Given the description of an element on the screen output the (x, y) to click on. 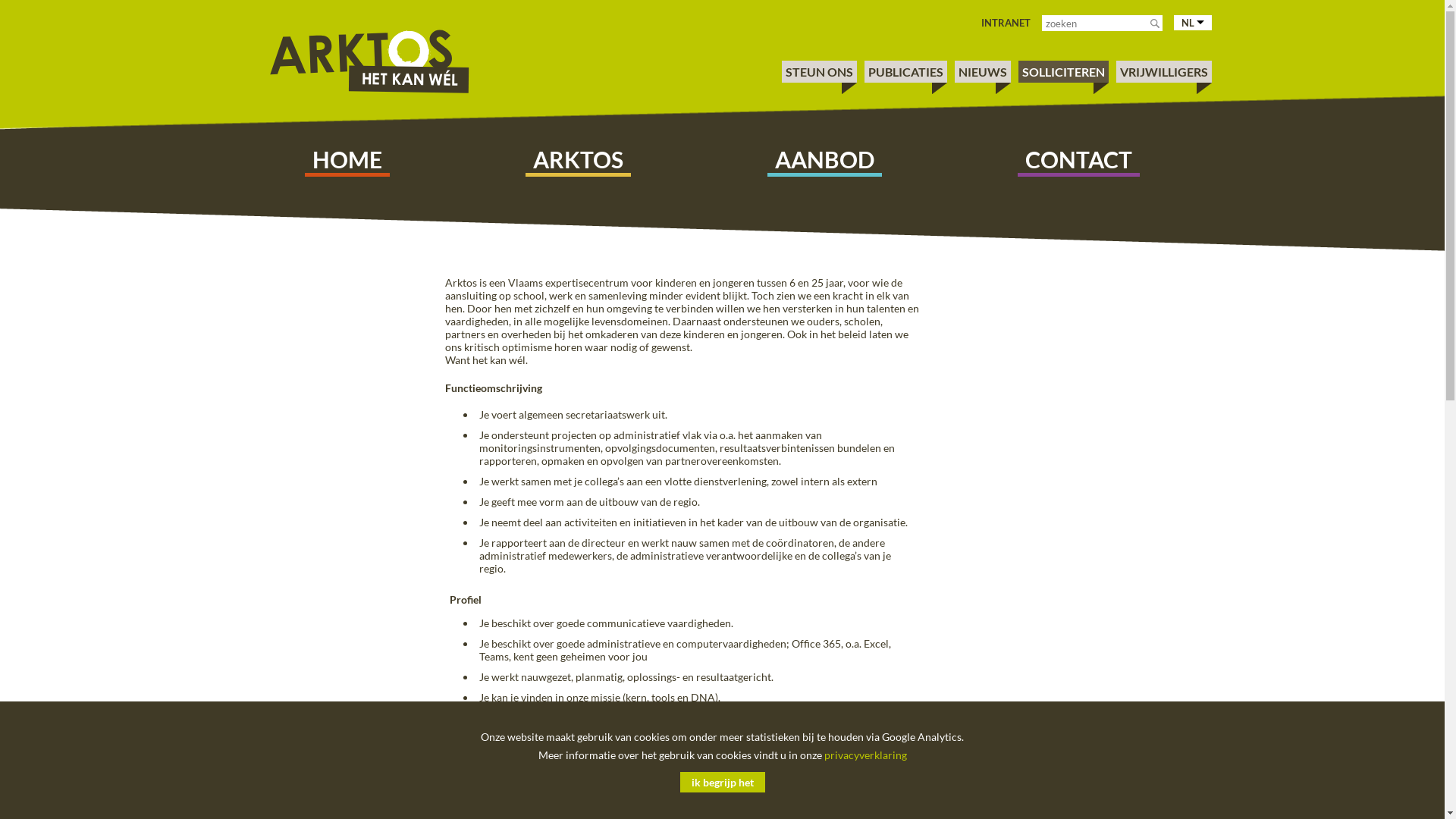
PUBLICATIES Element type: text (904, 71)
STEUN ONS Element type: text (819, 71)
AANBOD Element type: text (824, 158)
NIEUWS Element type: text (982, 71)
CONTACT Element type: text (1078, 158)
ARKTOS Element type: text (578, 158)
HOME Element type: text (347, 158)
INTRANET Element type: text (1005, 22)
privacyverklaring Element type: text (864, 754)
VRIJWILLIGERS Element type: text (1163, 71)
SOLLICITEREN Element type: text (1063, 71)
NL Element type: text (1192, 22)
